Given the description of an element on the screen output the (x, y) to click on. 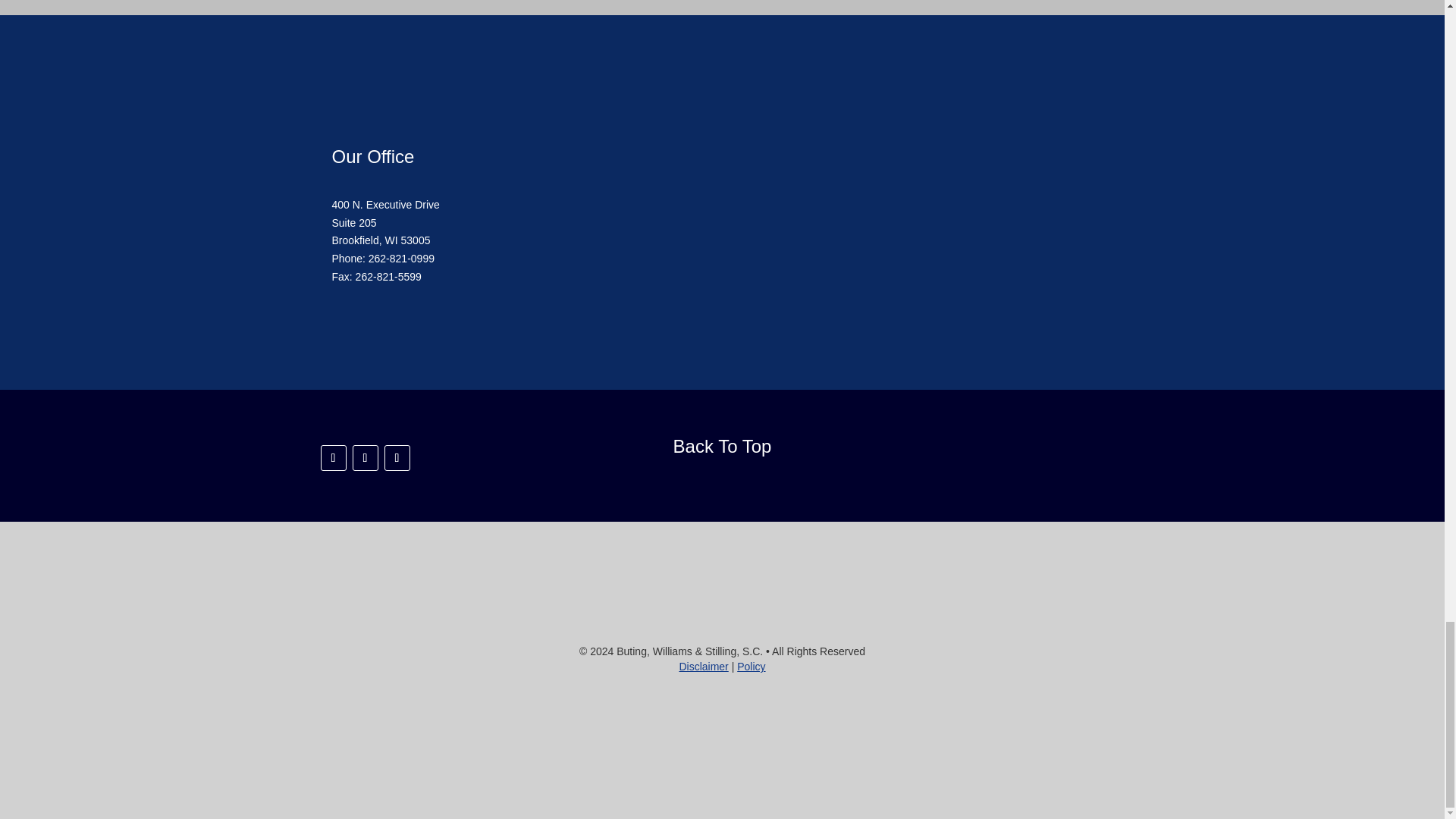
Follow on Facebook (333, 457)
Follow on LinkedIn (364, 457)
Follow on X (396, 457)
